Given the description of an element on the screen output the (x, y) to click on. 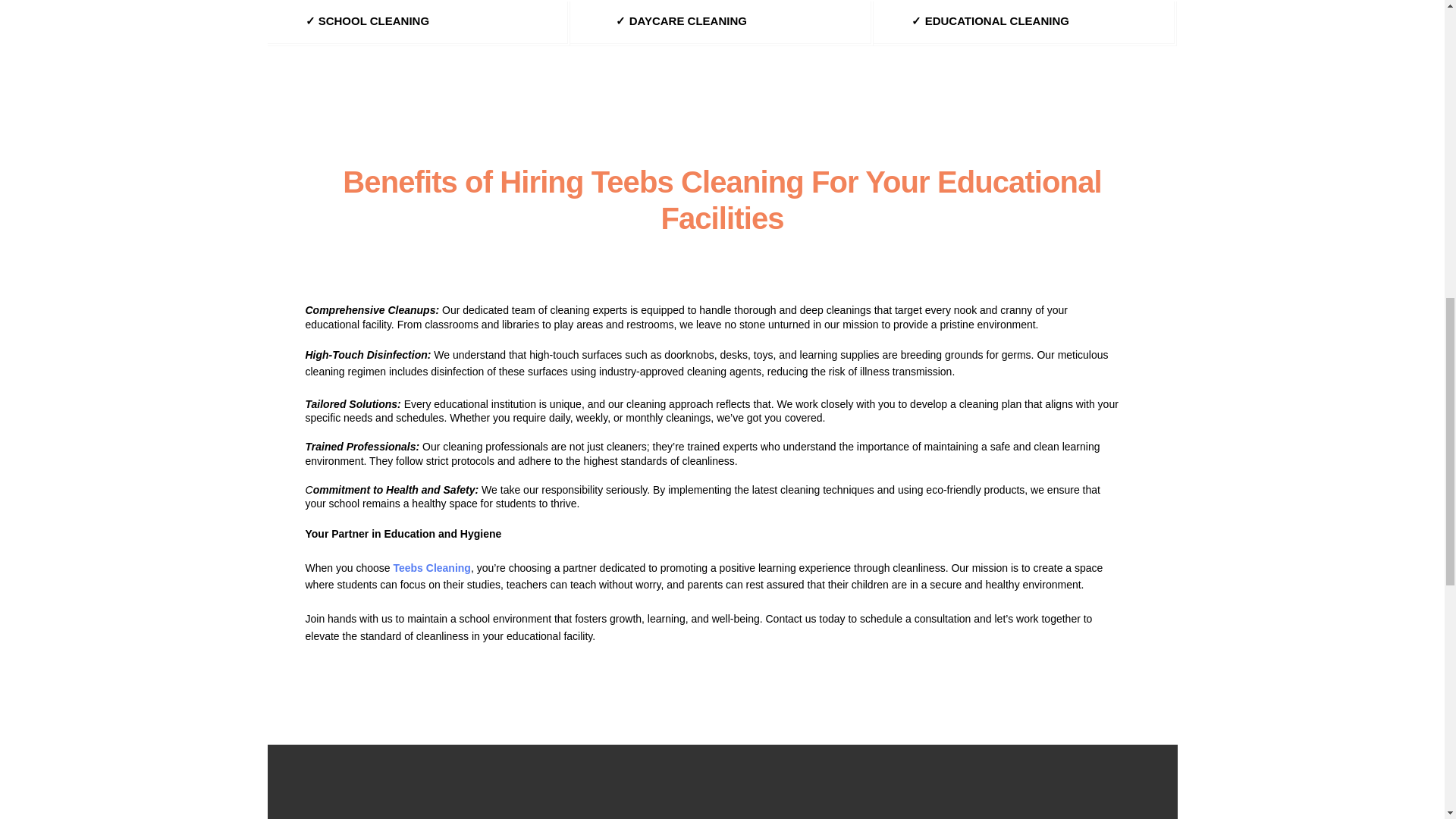
 Teebs Cleaning (430, 567)
